Given the description of an element on the screen output the (x, y) to click on. 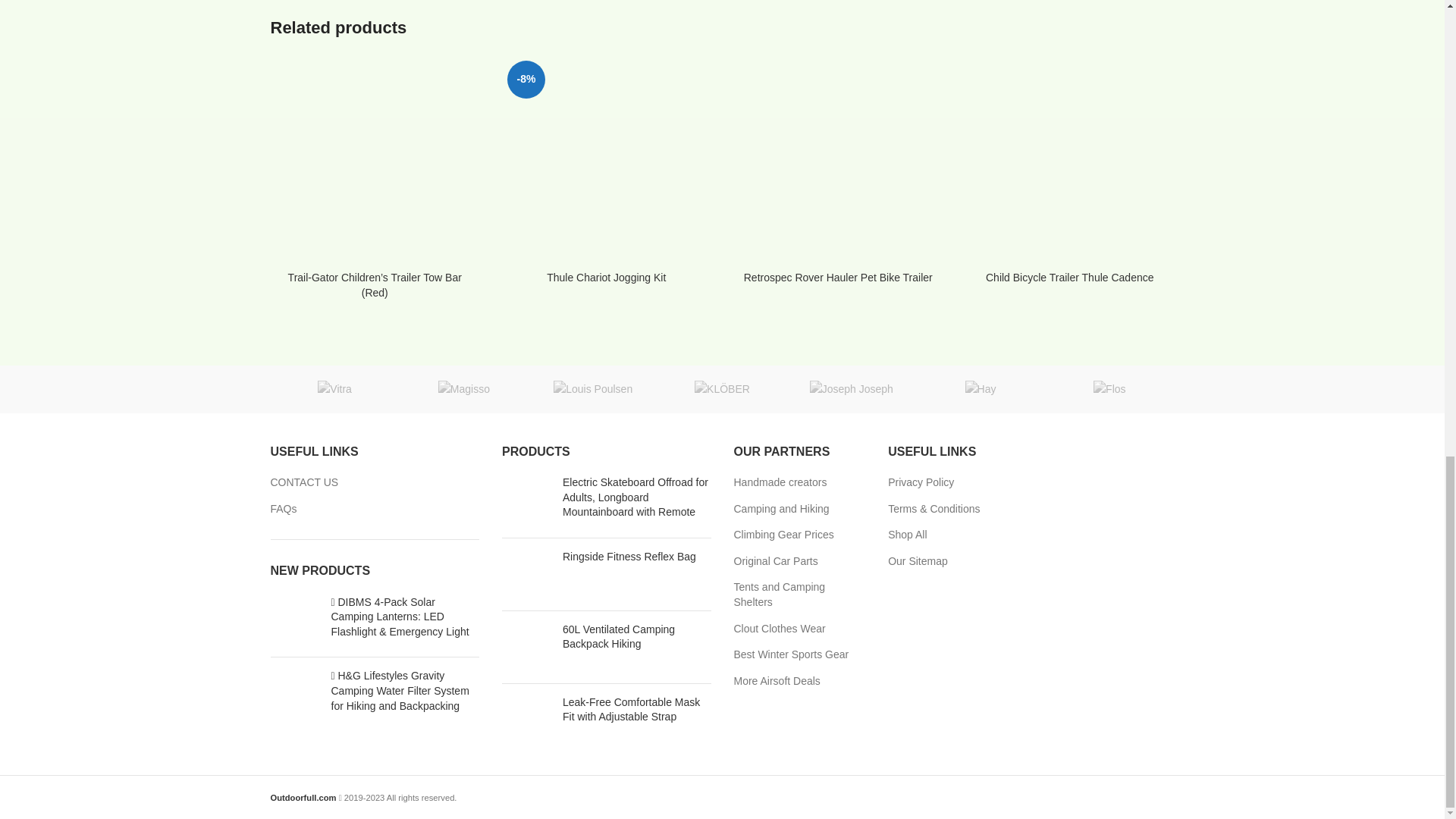
Vitra (334, 388)
Magisso (463, 388)
Magisso (463, 388)
Vitra (333, 388)
